Given the description of an element on the screen output the (x, y) to click on. 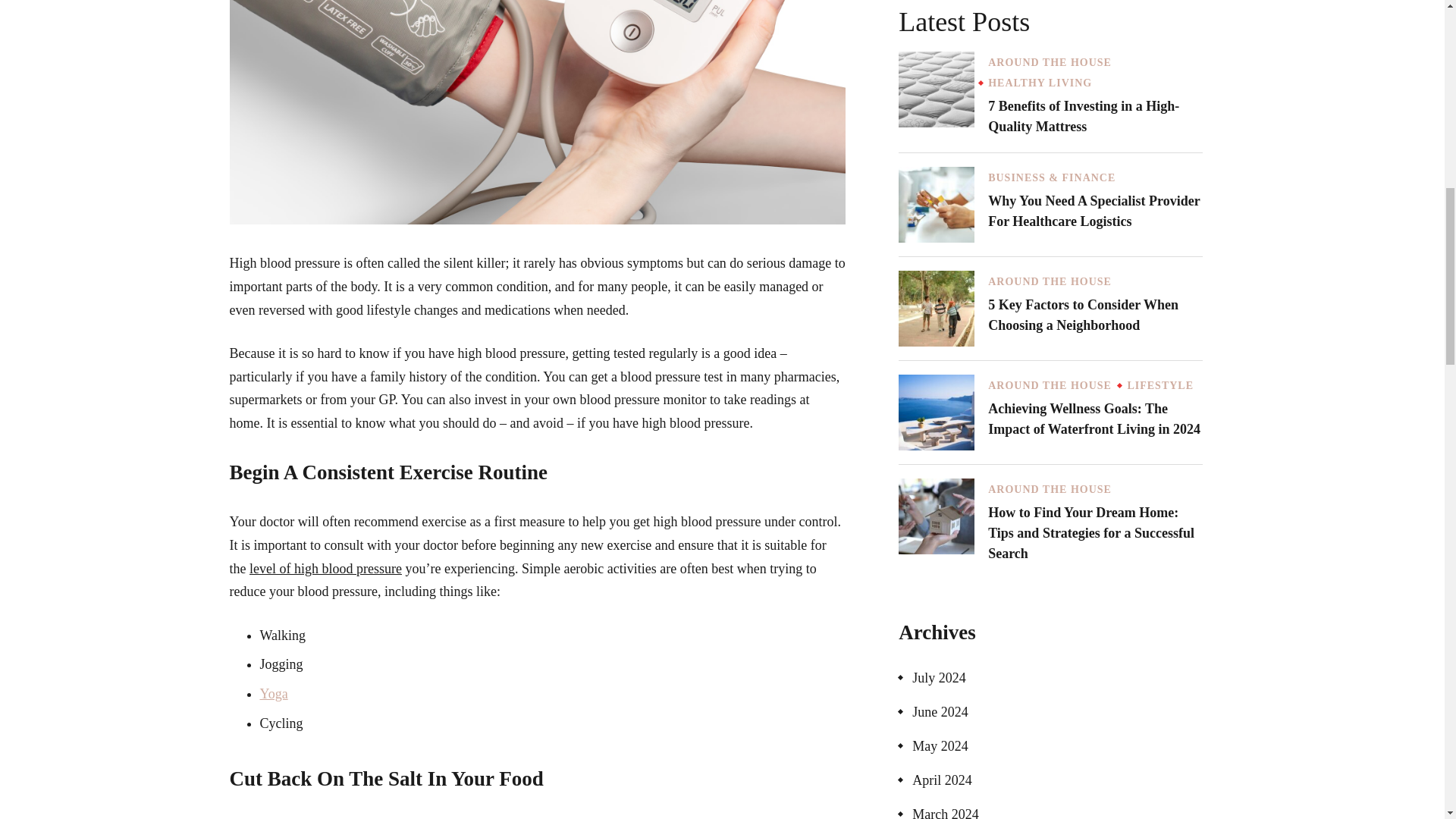
level of high blood pressure (324, 568)
Yoga (272, 693)
